Given the description of an element on the screen output the (x, y) to click on. 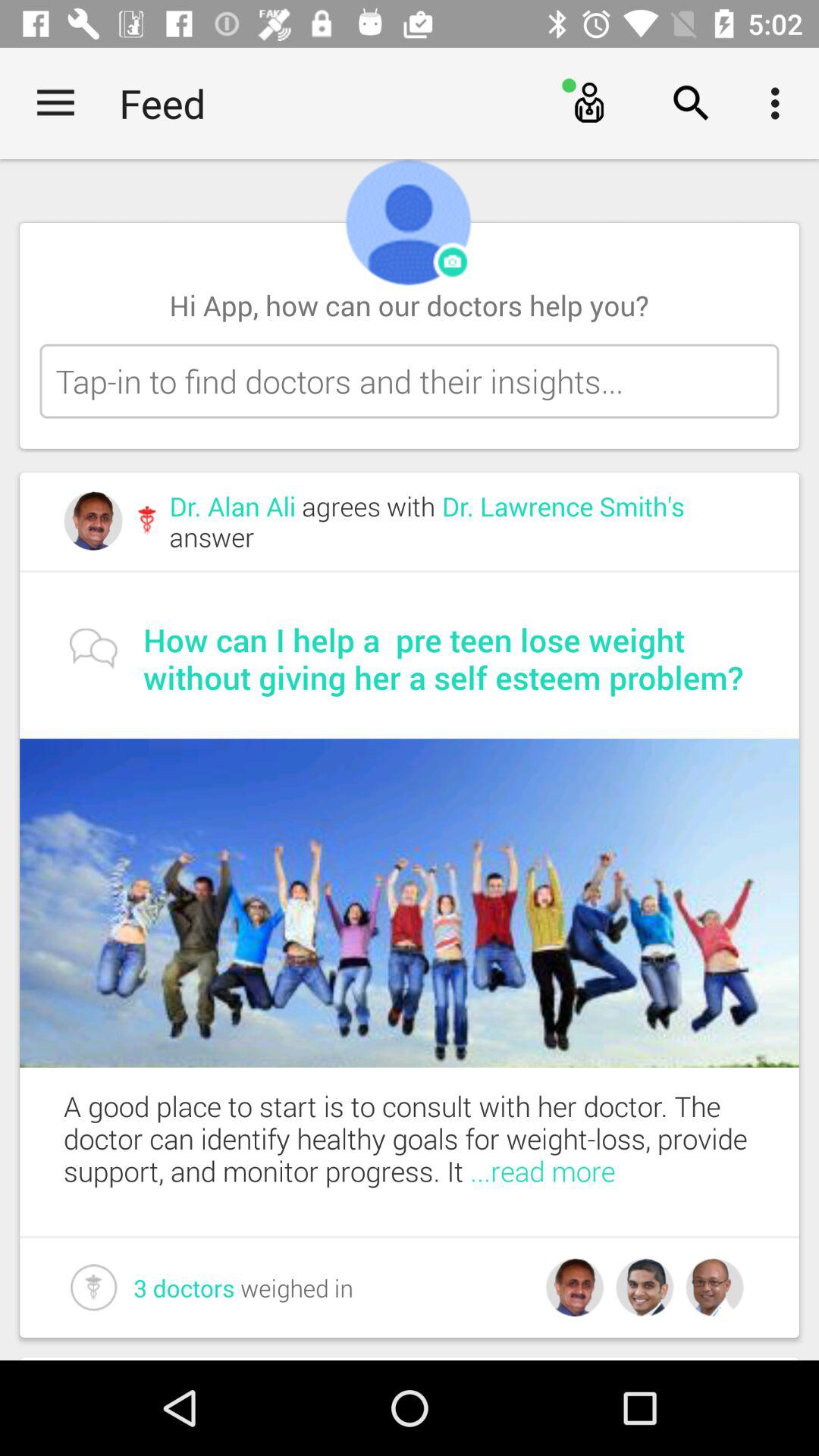
search for doctors and their insights (409, 381)
